Given the description of an element on the screen output the (x, y) to click on. 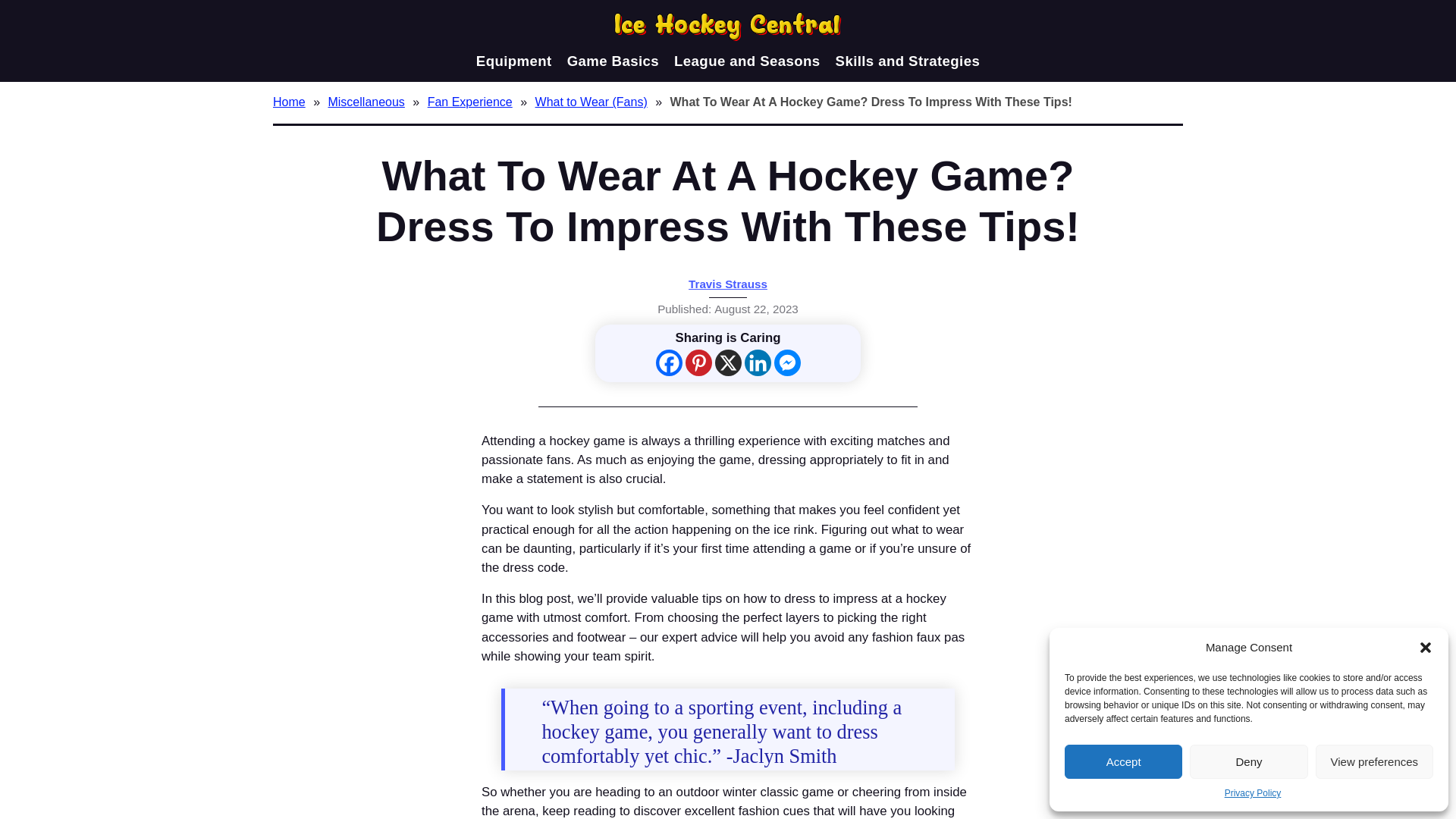
Game Basics (613, 61)
Skills and Strategies (907, 61)
Privacy Policy (1252, 793)
Fan Experience (472, 101)
X (727, 362)
View preferences (1374, 761)
Deny (1248, 761)
Linkedin (757, 362)
Facebook (668, 362)
League and Seasons (746, 61)
